Given the description of an element on the screen output the (x, y) to click on. 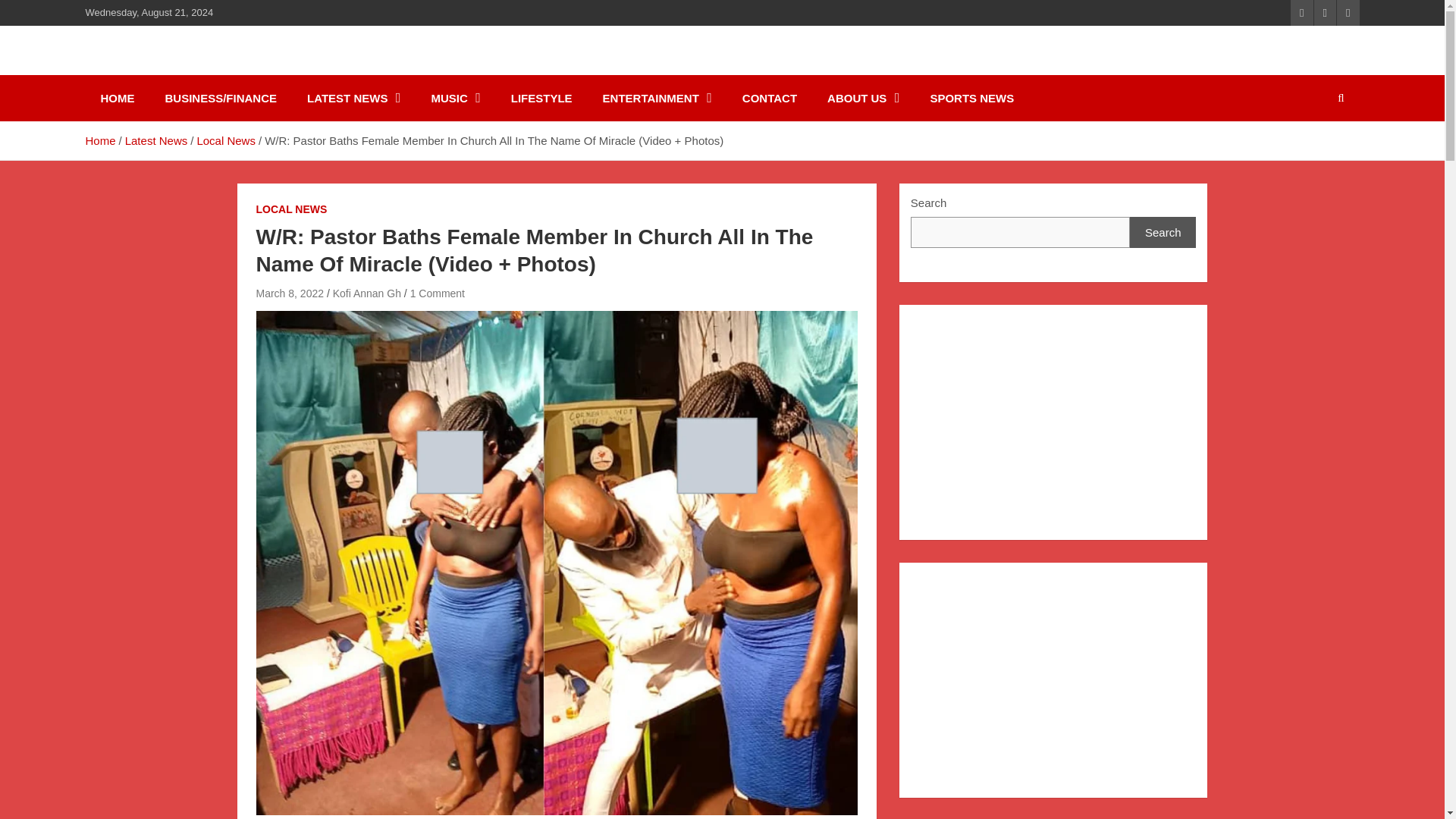
CONTACT (769, 98)
LATEST NEWS (353, 98)
Kofi Annan GH (191, 68)
ABOUT US (863, 98)
Latest News (156, 140)
LIFESTYLE (542, 98)
SPORTS NEWS (971, 98)
HOME (116, 98)
MUSIC (454, 98)
LOCAL NEWS (291, 209)
